Given the description of an element on the screen output the (x, y) to click on. 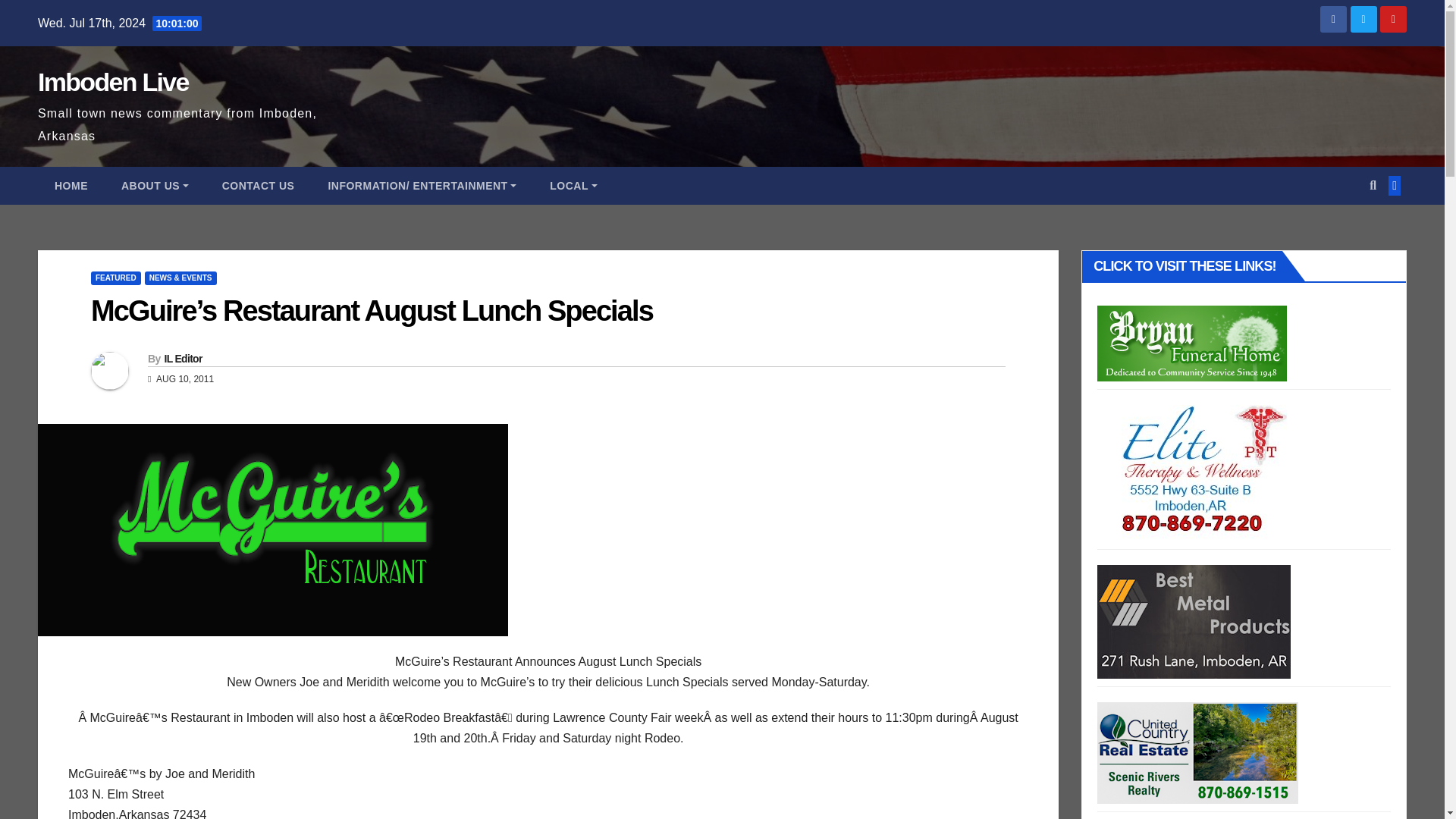
HOME (70, 185)
Home (70, 185)
LOCAL (572, 185)
Imboden Live (113, 81)
ABOUT US (154, 185)
CONTACT US (258, 185)
